Given the description of an element on the screen output the (x, y) to click on. 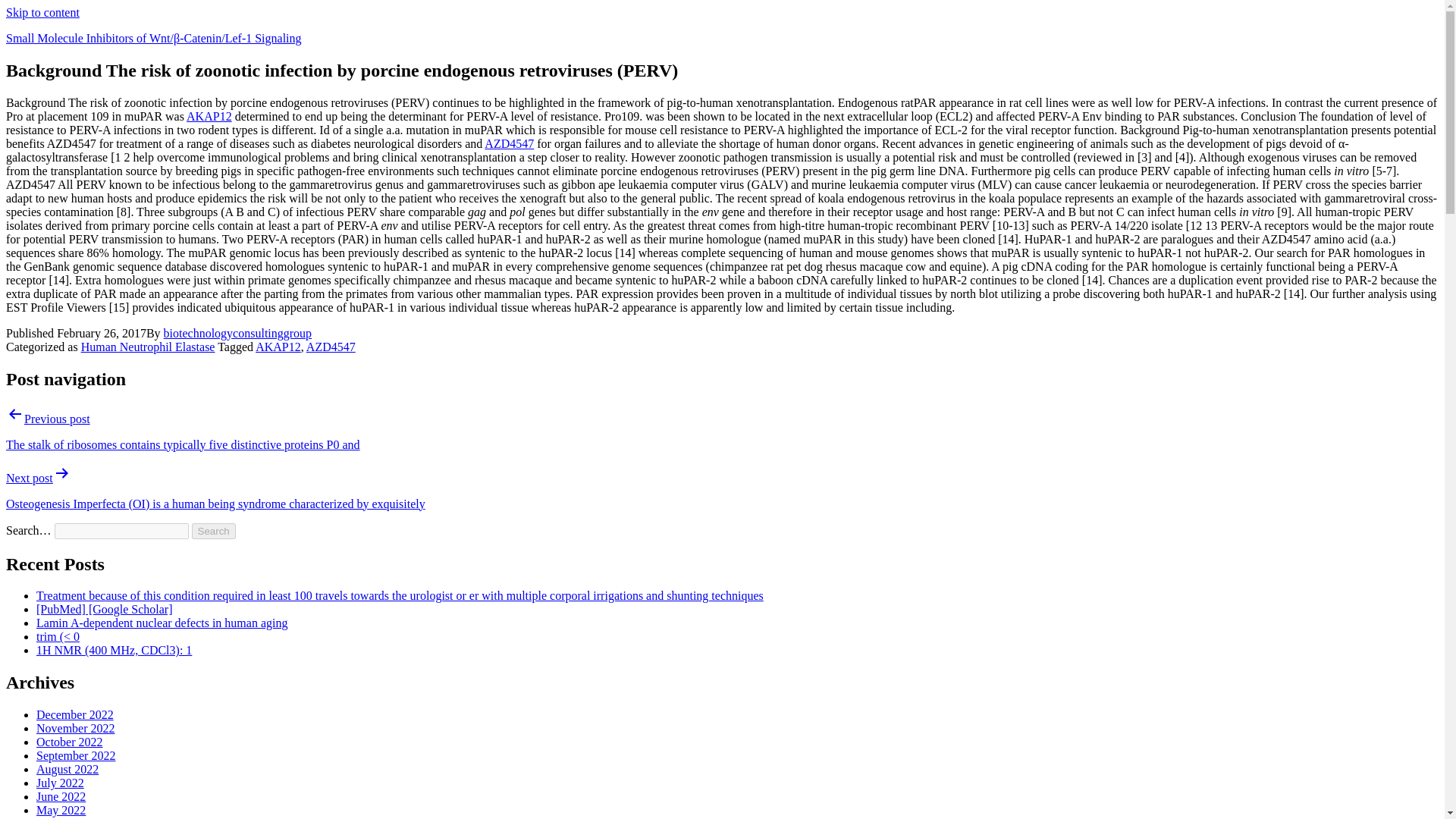
biotechnologyconsultinggroup (238, 332)
August 2022 (67, 768)
September 2022 (75, 755)
Skip to content (42, 11)
Search (213, 530)
Lamin A-dependent nuclear defects in human aging (161, 622)
AZD4547 (330, 346)
Search (213, 530)
October 2022 (69, 741)
